Given the description of an element on the screen output the (x, y) to click on. 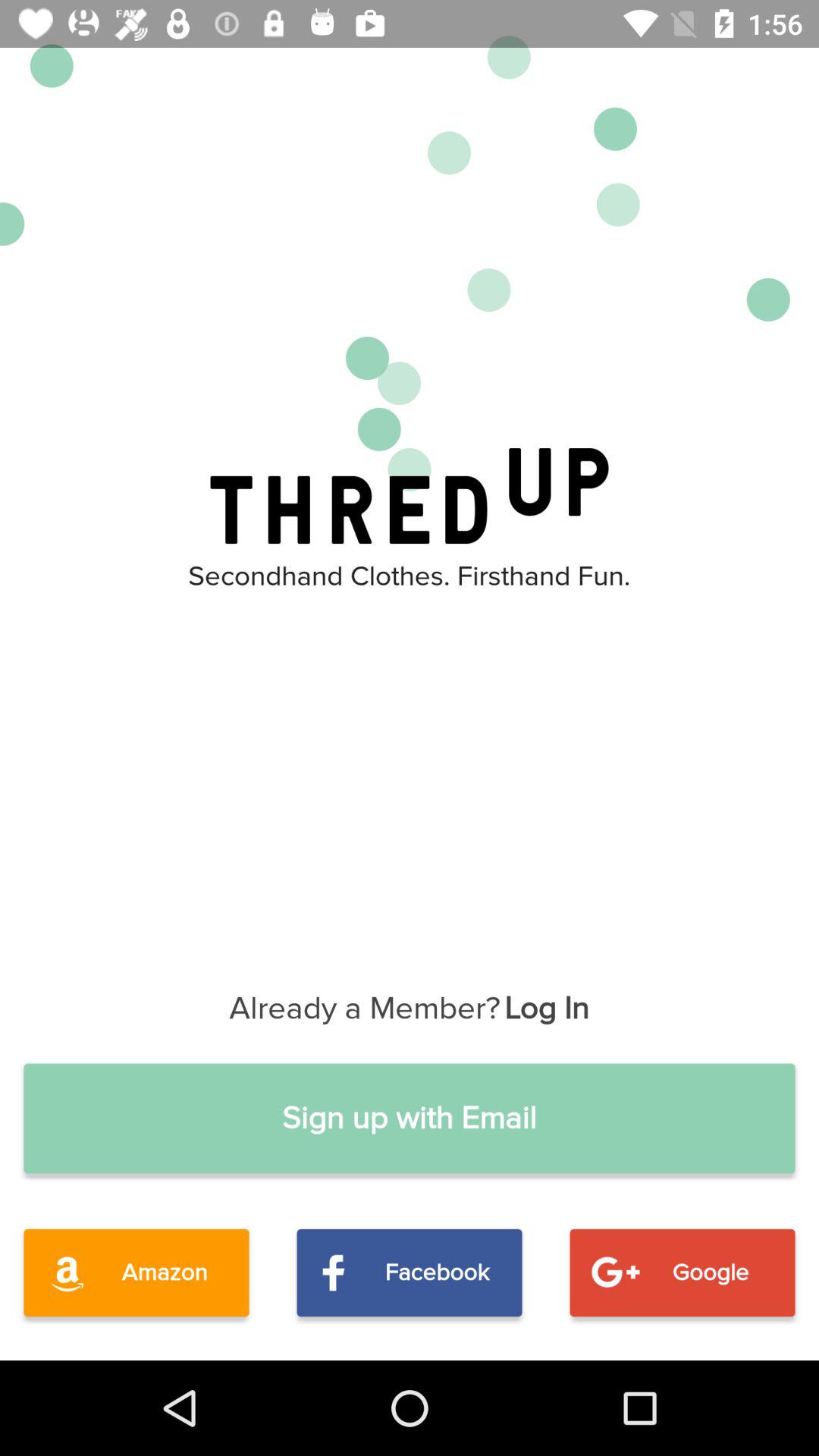
tap the icon to the right of the facebook item (682, 1272)
